Given the description of an element on the screen output the (x, y) to click on. 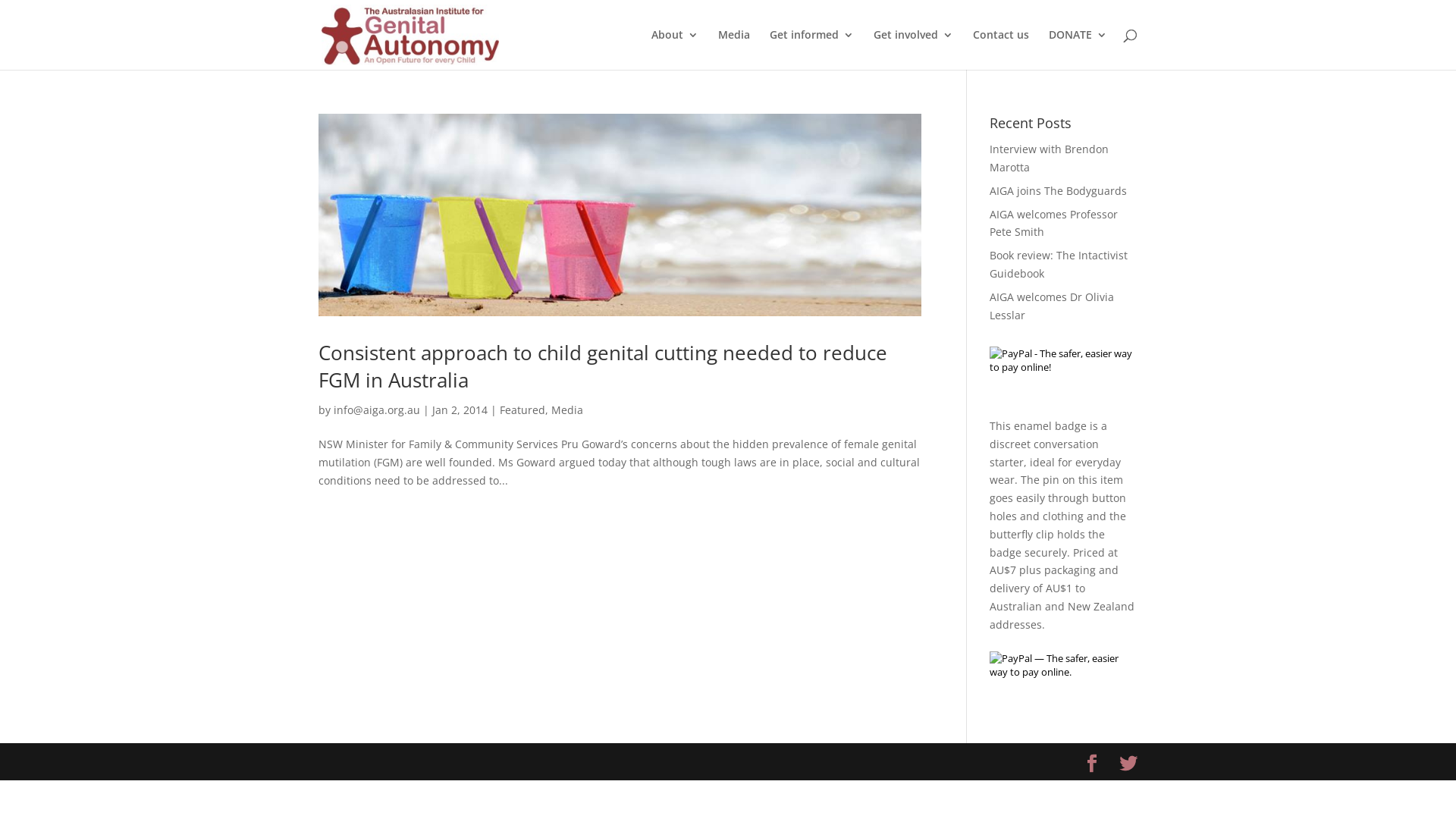
Interview with Brendon Marotta Element type: text (1048, 157)
Media Element type: text (733, 49)
Media Element type: text (567, 409)
About Element type: text (674, 49)
Book review: The Intactivist Guidebook Element type: text (1058, 263)
Contact us Element type: text (1000, 49)
AIGA joins The Bodyguards Element type: text (1057, 190)
info@aiga.org.au Element type: text (376, 409)
DONATE Element type: text (1077, 49)
Get informed Element type: text (811, 49)
Featured Element type: text (522, 409)
AIGA welcomes Dr Olivia Lesslar Element type: text (1051, 305)
Get involved Element type: text (913, 49)
AIGA welcomes Professor Pete Smith Element type: text (1053, 223)
